Given the description of an element on the screen output the (x, y) to click on. 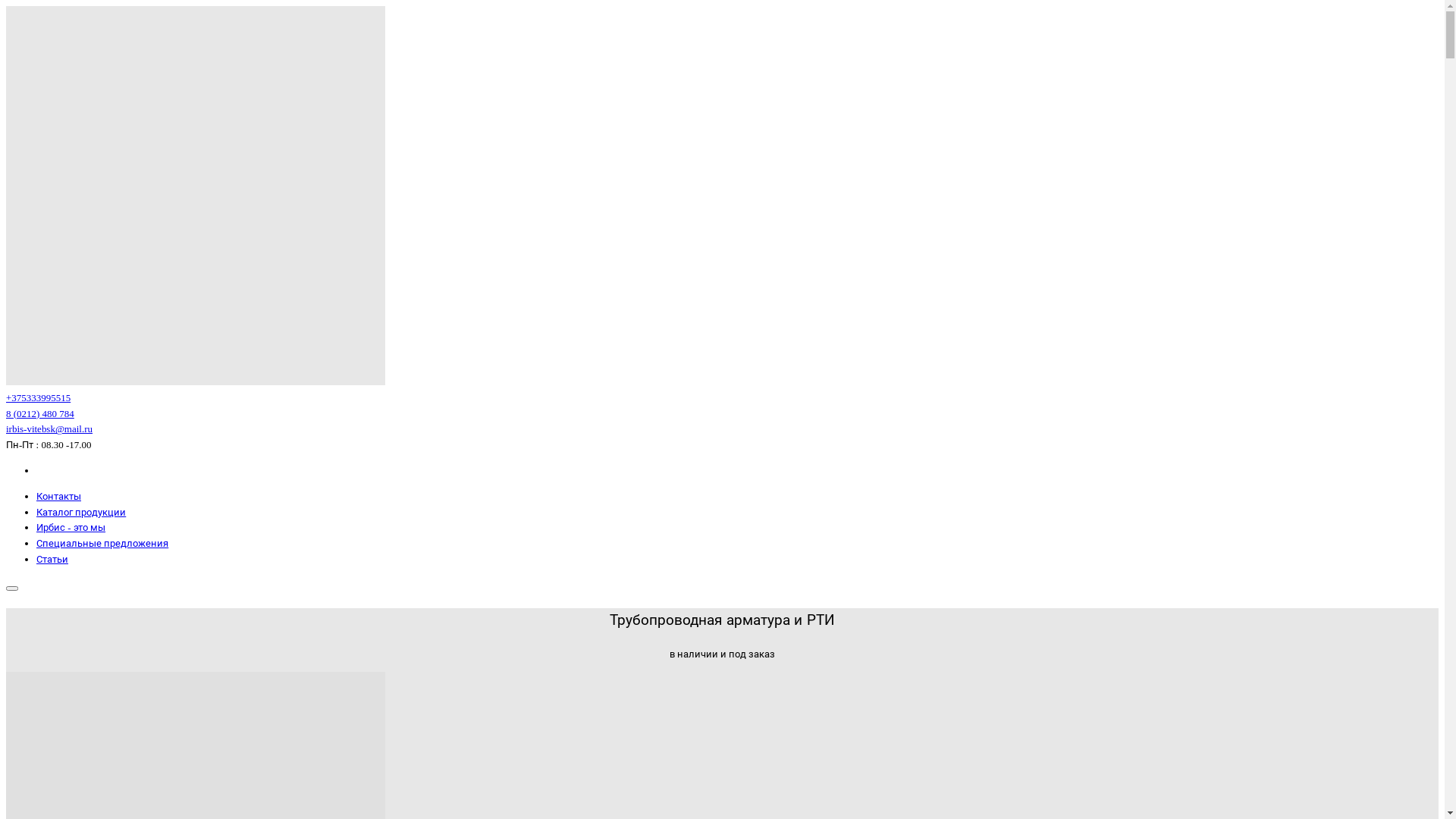
+375333995515 Element type: text (38, 397)
8 (0212) 480 784 Element type: text (40, 413)
irbis-vitebsk@mail.ru Element type: text (49, 428)
